Given the description of an element on the screen output the (x, y) to click on. 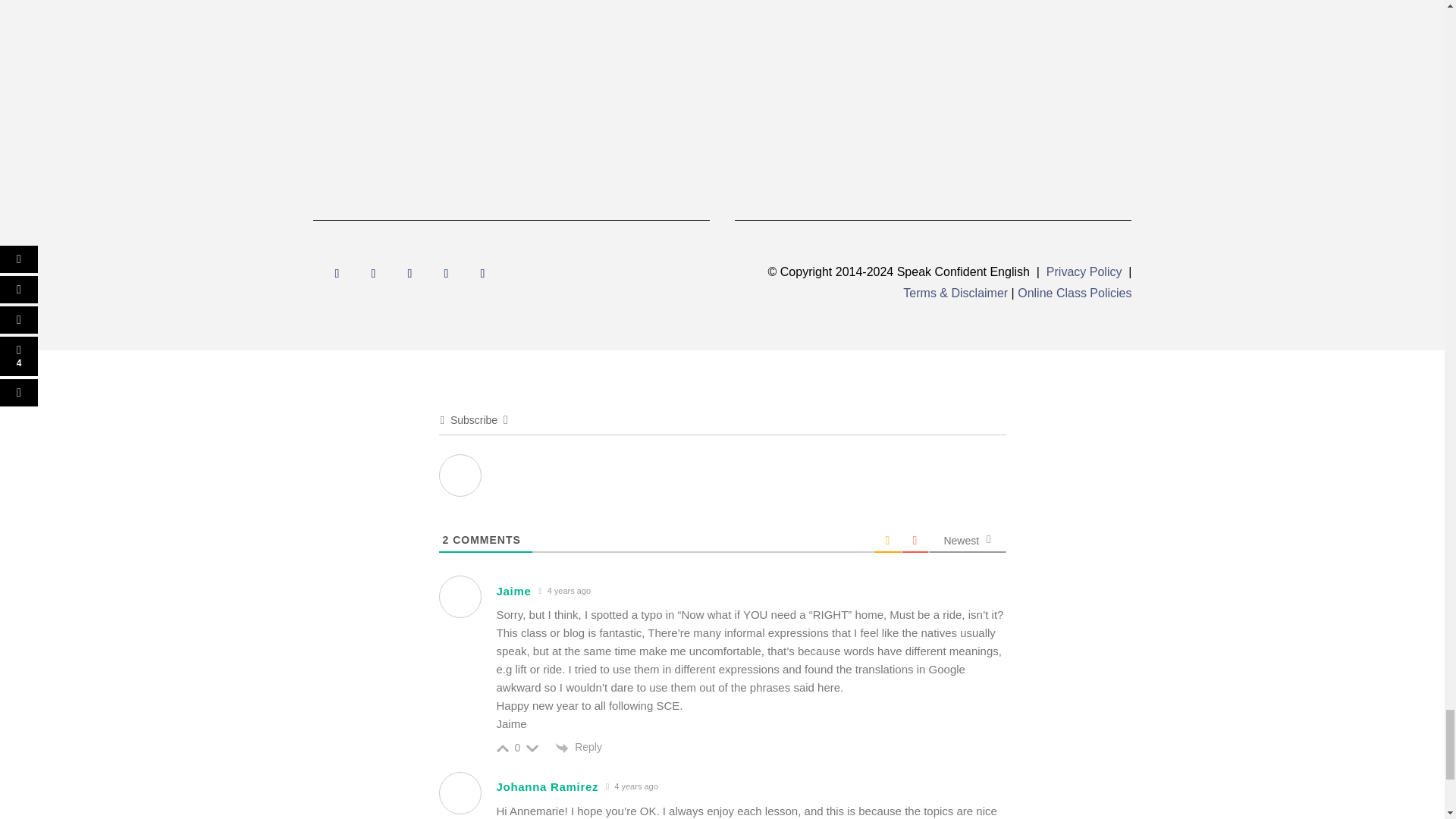
Follow on Instagram (409, 273)
Follow on Facebook (336, 273)
Follow on Youtube (373, 273)
Follow on LinkedIn (445, 273)
Online Class Policies (1074, 292)
Follow on Pinterest (482, 273)
Privacy Policy (1084, 271)
